Given the description of an element on the screen output the (x, y) to click on. 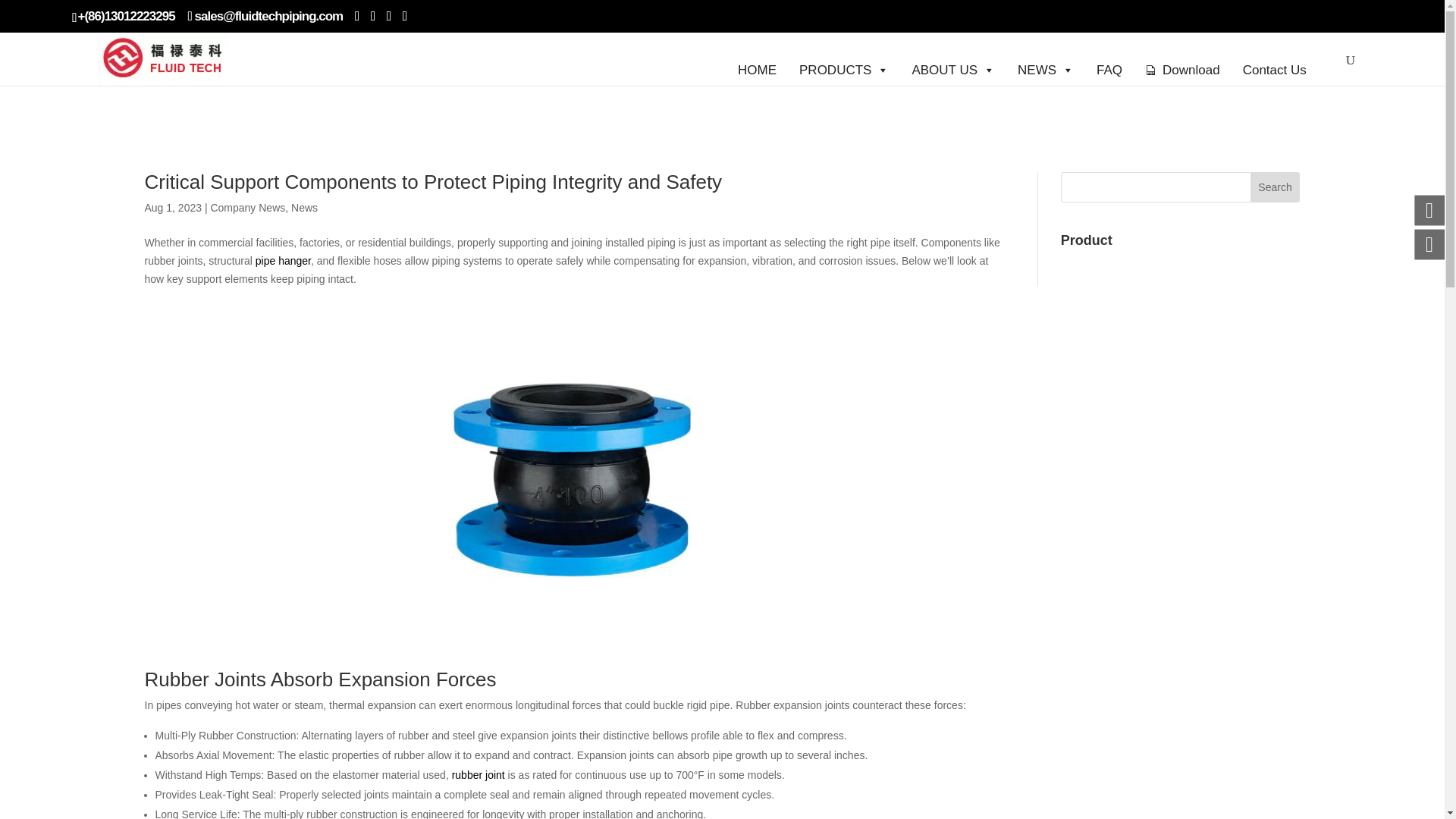
Search (1275, 186)
HOME (756, 58)
PRODUCTS (843, 58)
